Given the description of an element on the screen output the (x, y) to click on. 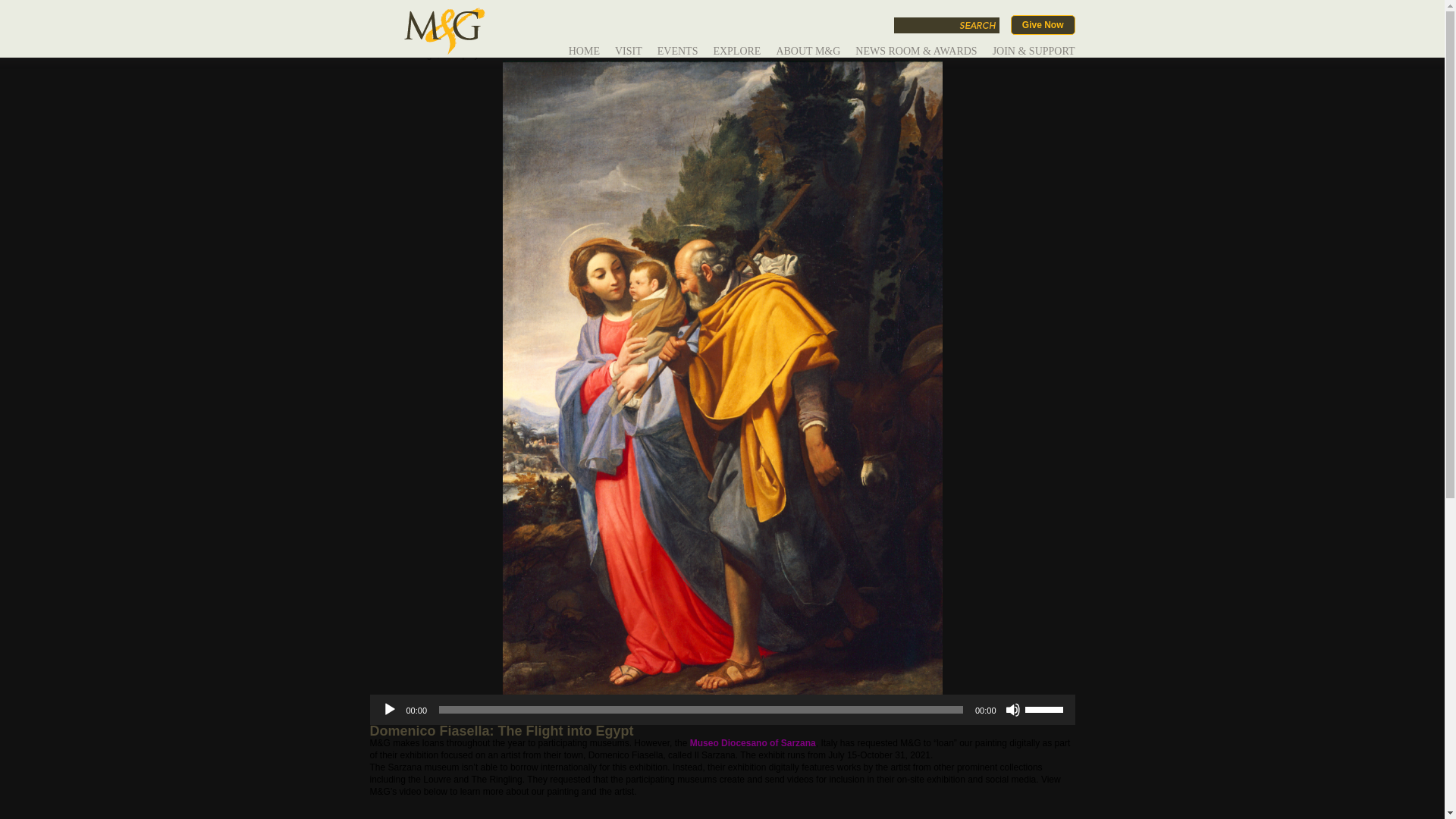
Permanent Link to Domenico Fiasella (429, 17)
Permanent Link to Domenico Fiasella: The Flight into Egypt (501, 730)
Search for: (925, 25)
EXPLORE (736, 54)
Mute (1013, 709)
Give Now (1042, 25)
VISIT (628, 54)
YouTube video player (581, 808)
Play (389, 709)
HOME (584, 54)
EVENTS (678, 54)
